Given the description of an element on the screen output the (x, y) to click on. 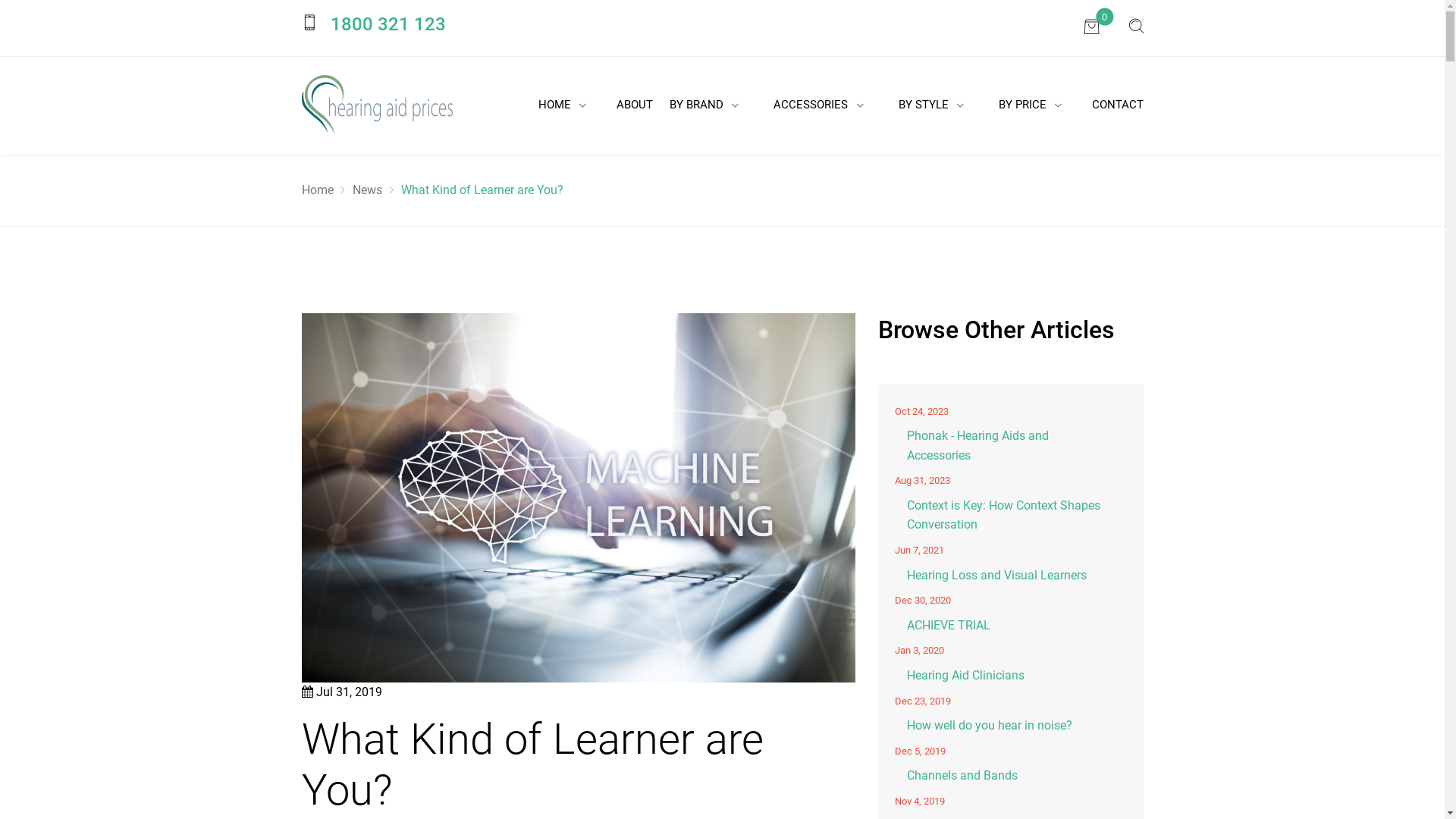
Context is Key: How Context Shapes Conversation Element type: text (1009, 514)
ACHIEVE TRIAL Element type: text (1009, 625)
News Element type: text (367, 189)
How well do you hear in noise? Element type: text (1009, 725)
BY PRICE Element type: text (1029, 104)
Hearing Loss and Visual Learners Element type: text (1009, 575)
0 Element type: text (1091, 27)
CONTACT Element type: text (1115, 104)
Home Element type: text (317, 189)
ABOUT Element type: text (631, 104)
Hearing Aid Clinicians Element type: text (1009, 675)
BY BRAND Element type: text (704, 104)
ACCESSORIES Element type: text (817, 104)
HOME Element type: text (561, 104)
Phonak - Hearing Aids and Accessories Element type: text (1009, 445)
Channels and Bands Element type: text (1009, 775)
1800 321 123 Element type: text (387, 23)
BY STYLE Element type: text (930, 104)
